Given the description of an element on the screen output the (x, y) to click on. 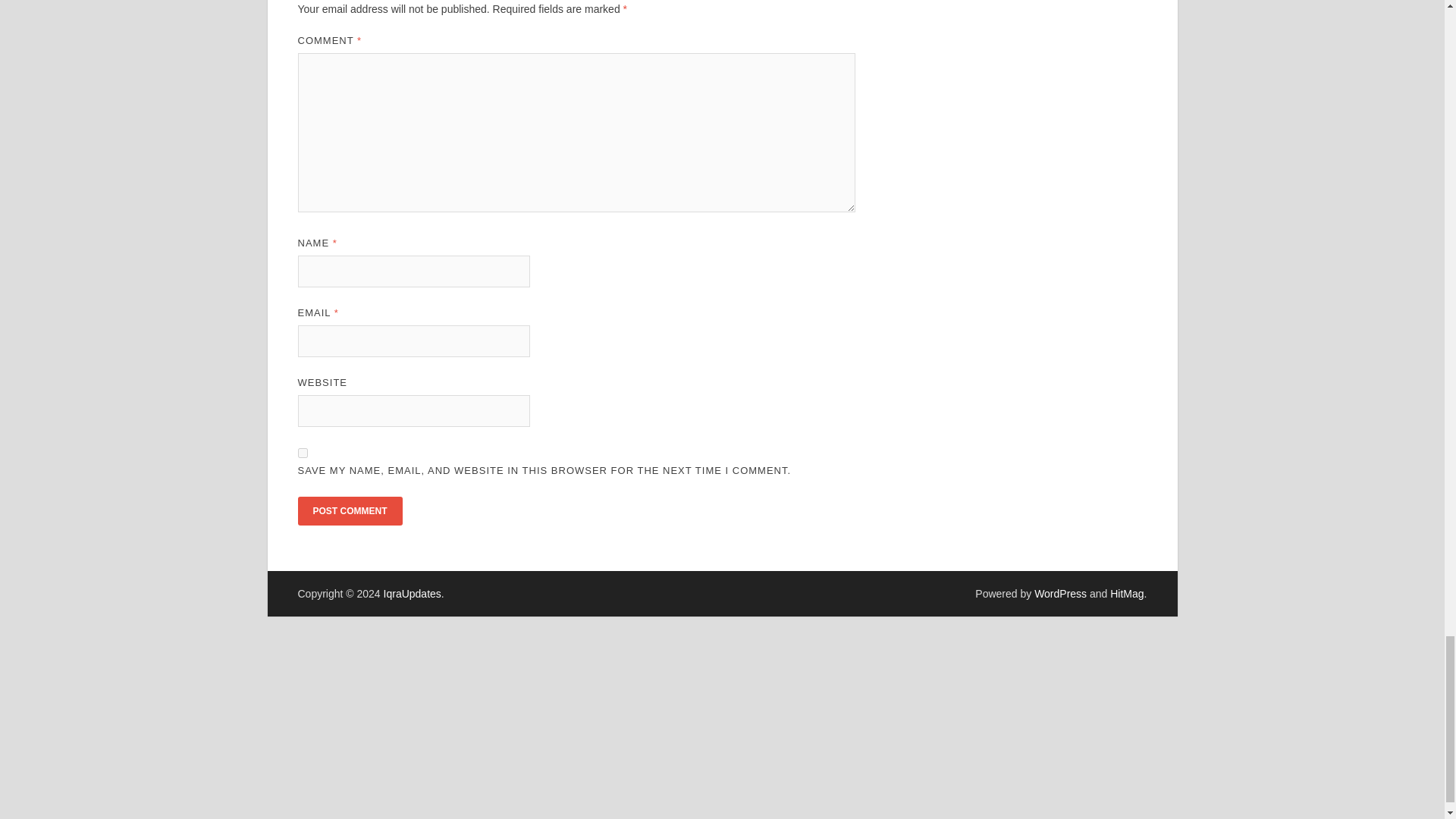
Post Comment (349, 510)
yes (302, 452)
IqraUpdates (412, 593)
